Given the description of an element on the screen output the (x, y) to click on. 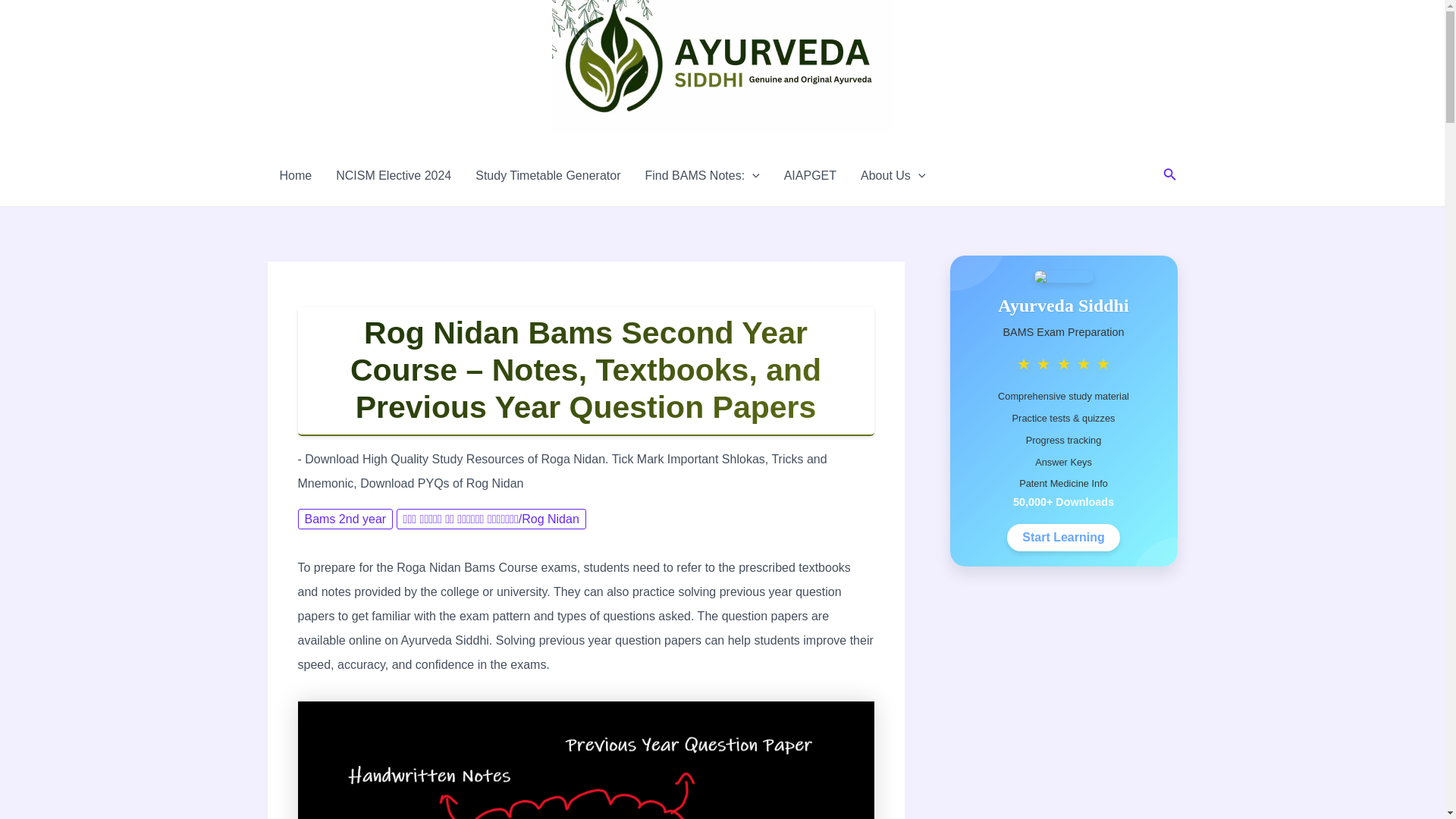
AIAPGET (809, 175)
About Us (892, 175)
NCISM Elective 2024 (393, 175)
Find BAMS Notes: (701, 175)
Search (1169, 175)
Study Timetable Generator (547, 175)
Bams 2nd year (345, 518)
Home (294, 175)
